Given the description of an element on the screen output the (x, y) to click on. 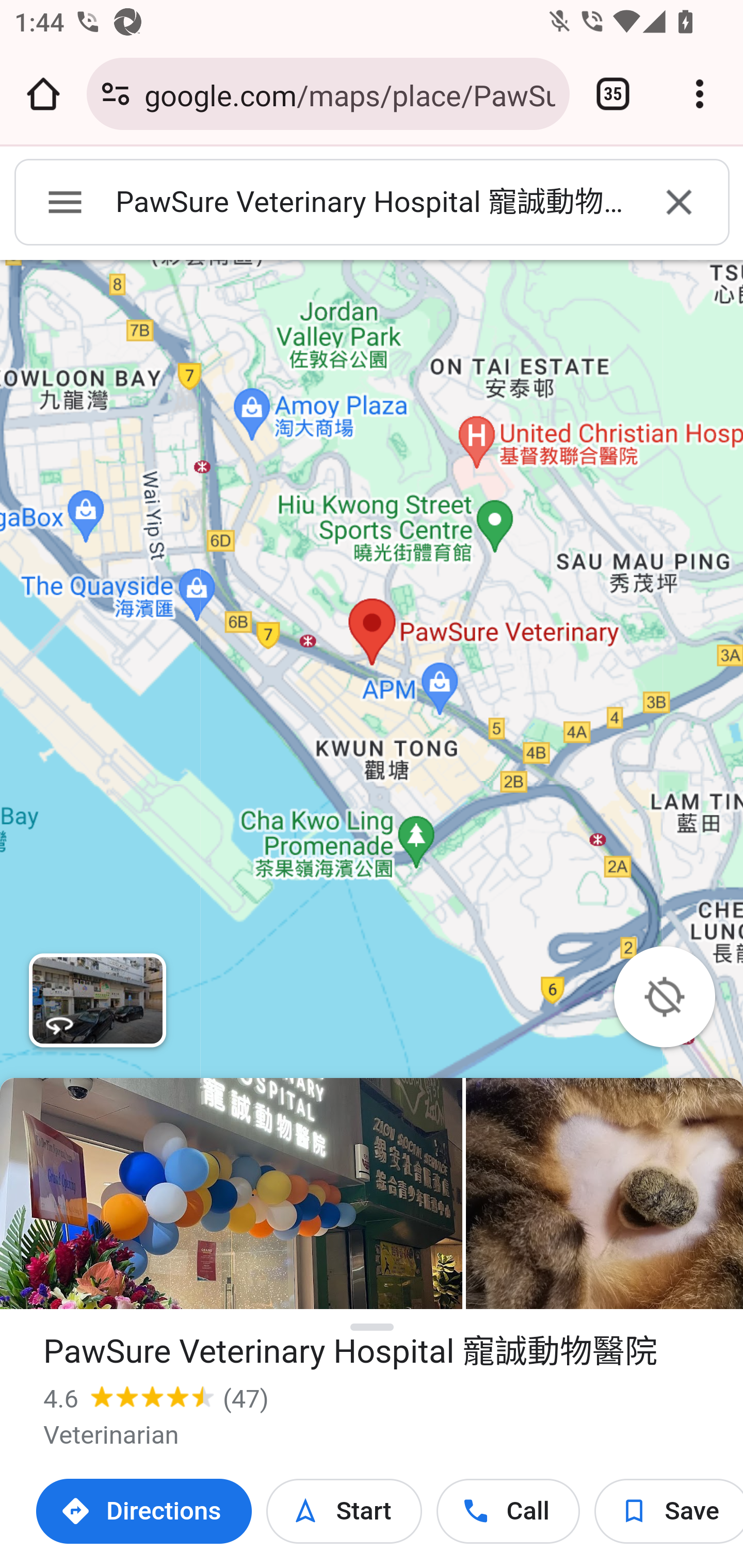
Open the home page (43, 93)
Connection is secure (115, 93)
Switch or close tabs (612, 93)
Customize and control Google Chrome (699, 93)
Photo 1 of 10 (231, 1193)
Photo 2 of 10 (604, 1193)
Show details (372, 1327)
Directions to PawSure Veterinary Hospital 寵誠動物醫院 (144, 1511)
Start (343, 1511)
Call PawSure Veterinary Hospital 寵誠動物醫院  Call (507, 1511)
